Given the description of an element on the screen output the (x, y) to click on. 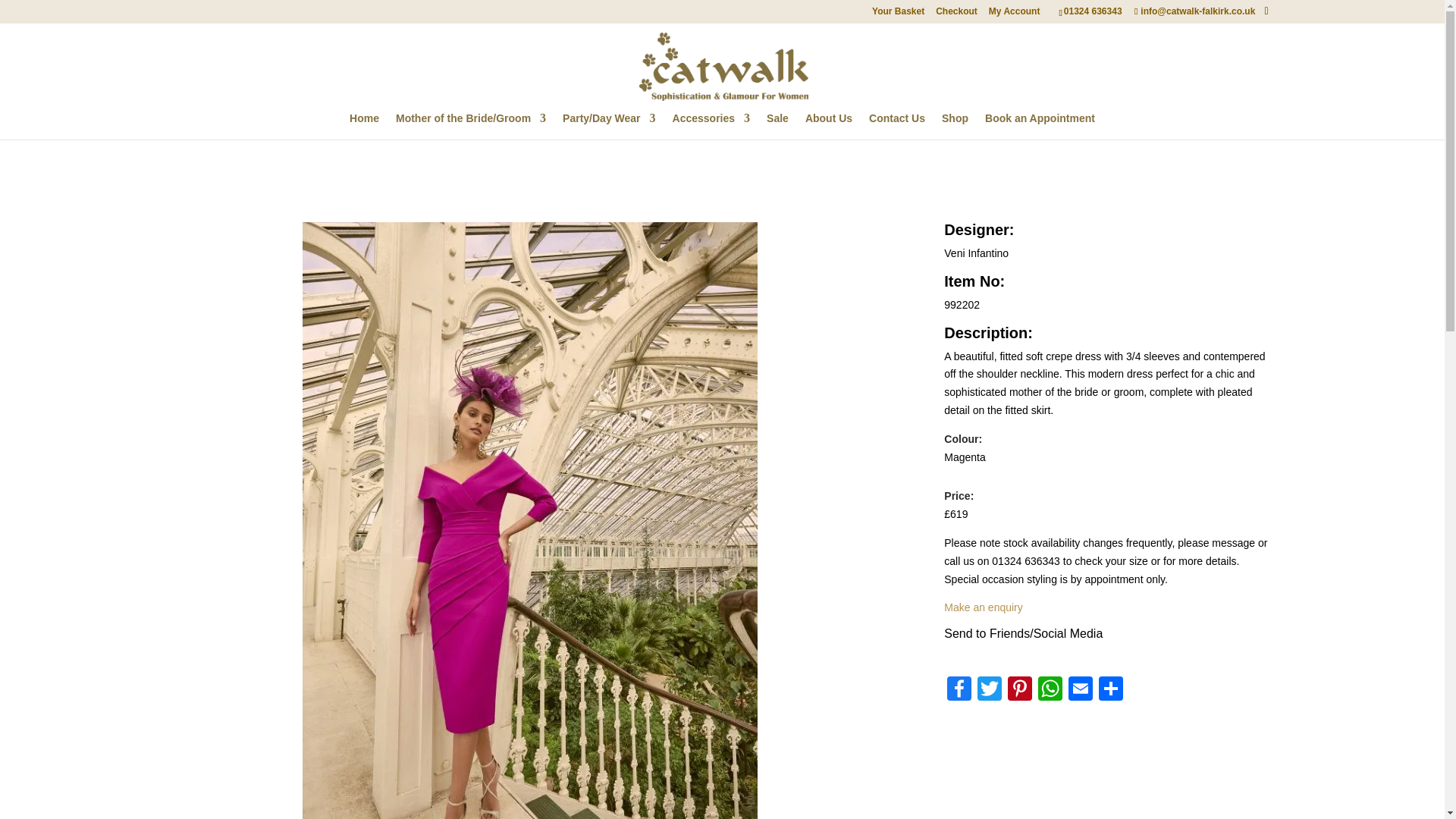
Twitter (989, 690)
Contact Us (896, 126)
Your Basket (898, 14)
Pinterest (1019, 690)
Email (1080, 690)
WhatsApp (1050, 690)
About Us (828, 126)
Facebook (958, 690)
My Account (1014, 14)
Accessories (711, 126)
Book an Appointment (1039, 126)
Home (363, 126)
Checkout (956, 14)
Shop (955, 126)
